Given the description of an element on the screen output the (x, y) to click on. 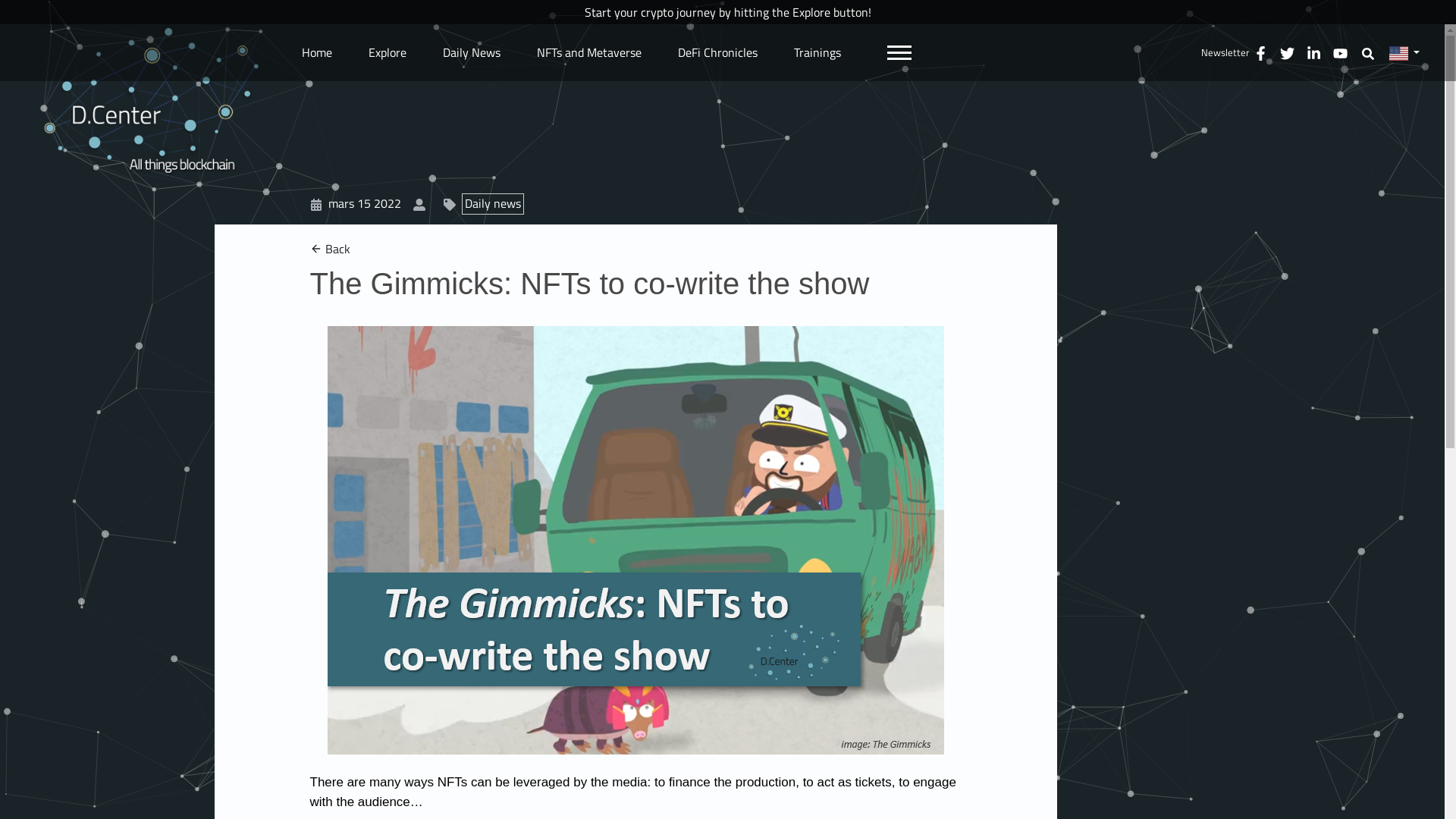
Newsletter Element type: text (1225, 52)
Trainings Element type: text (816, 52)
Daily news Element type: text (489, 203)
Daily News Element type: text (471, 52)
Home Element type: text (316, 52)
Explore Element type: text (387, 52)
DeFi Chronicles Element type: text (717, 52)
NFTs and Metaverse Element type: text (588, 52)
